Given the description of an element on the screen output the (x, y) to click on. 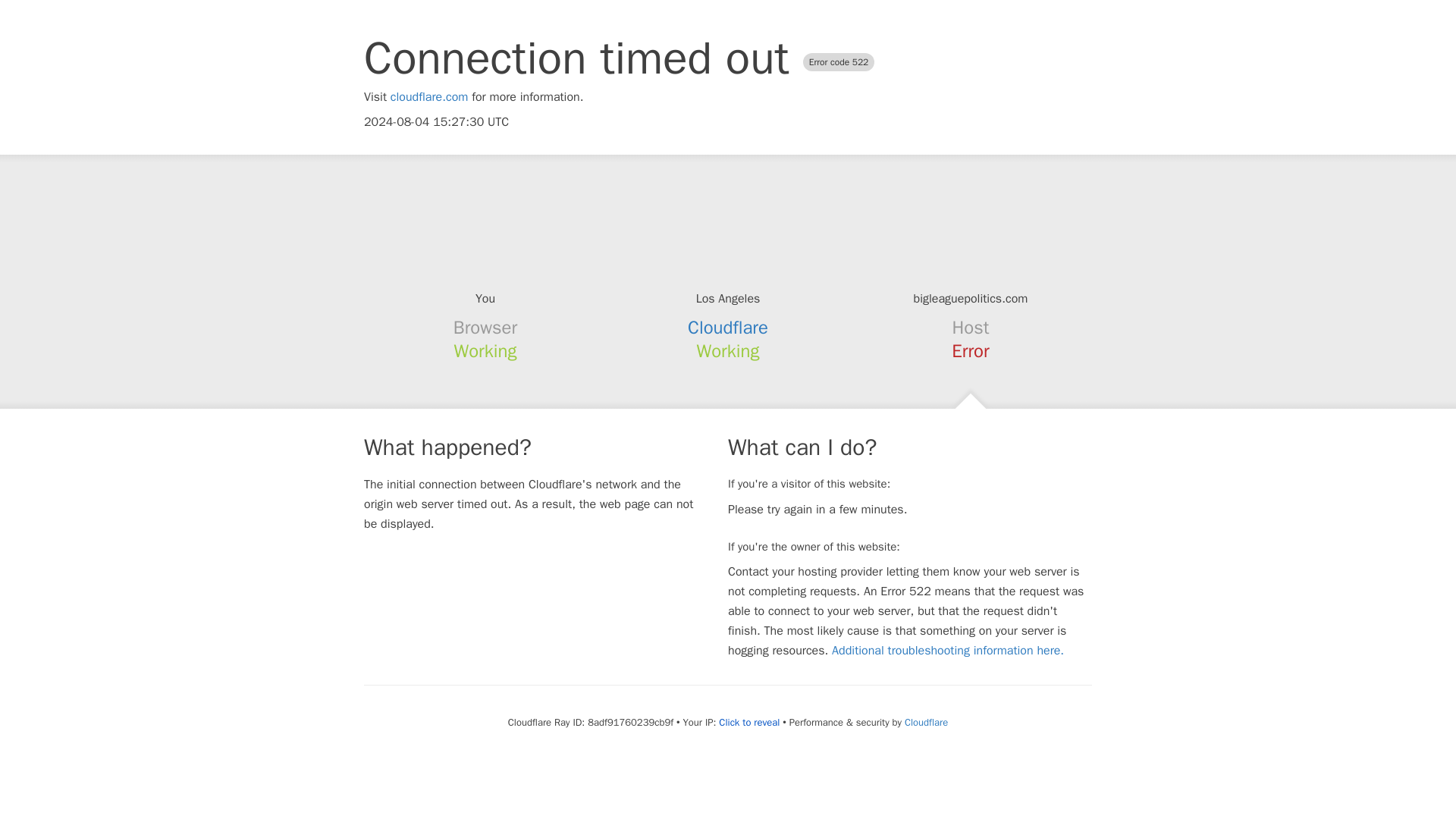
Cloudflare (727, 327)
cloudflare.com (429, 96)
Additional troubleshooting information here. (947, 650)
Cloudflare (925, 721)
Click to reveal (748, 722)
